Given the description of an element on the screen output the (x, y) to click on. 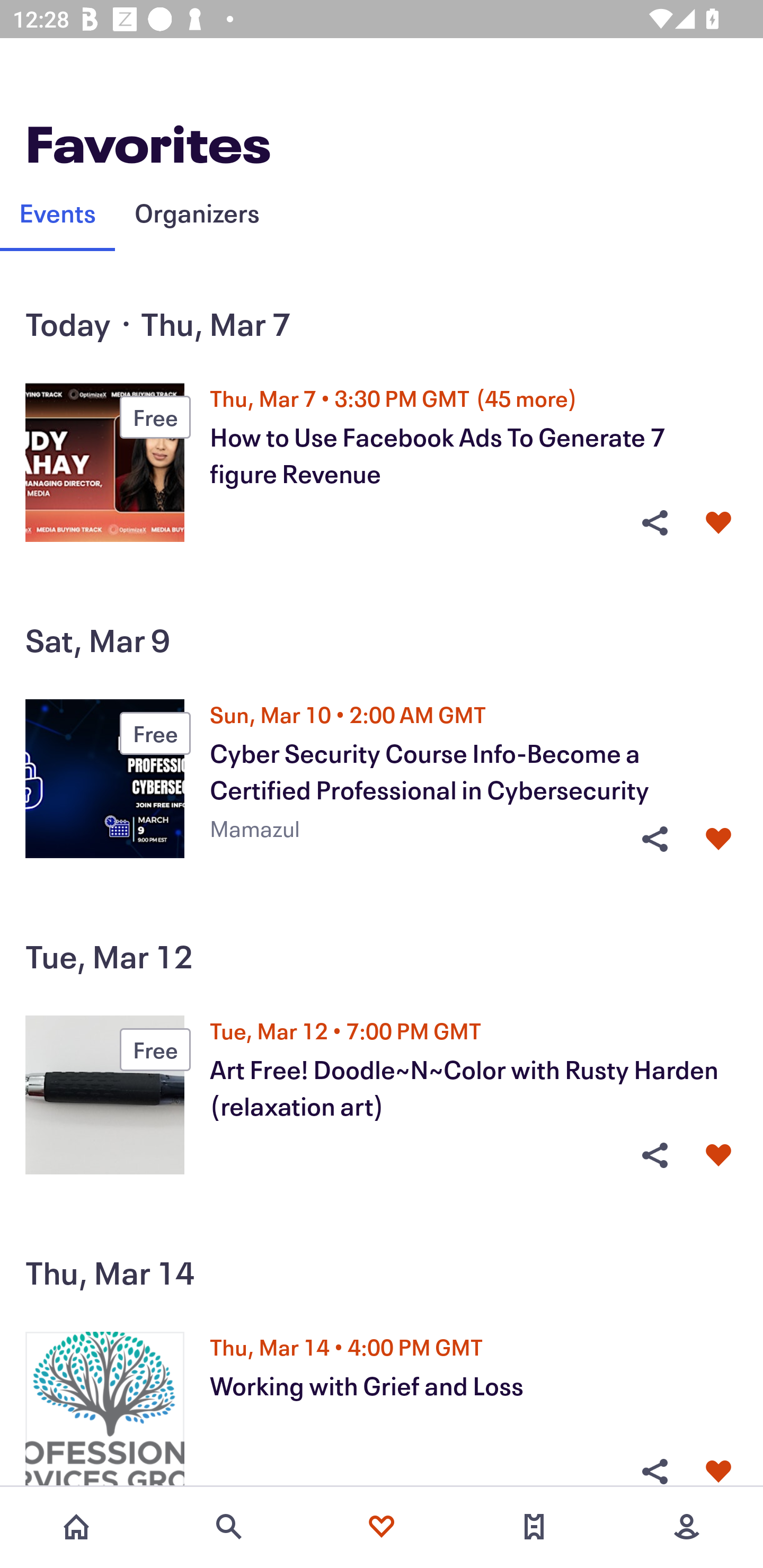
Organizers (196, 212)
Share Event (654, 522)
Unlike event (718, 522)
Share Event (654, 838)
Unlike event (718, 838)
Share Event (654, 1155)
Unlike event (718, 1155)
Share Event (654, 1471)
Unlike event (718, 1471)
Home (76, 1526)
Search events (228, 1526)
Favorites (381, 1526)
Tickets (533, 1526)
More (686, 1526)
